Given the description of an element on the screen output the (x, y) to click on. 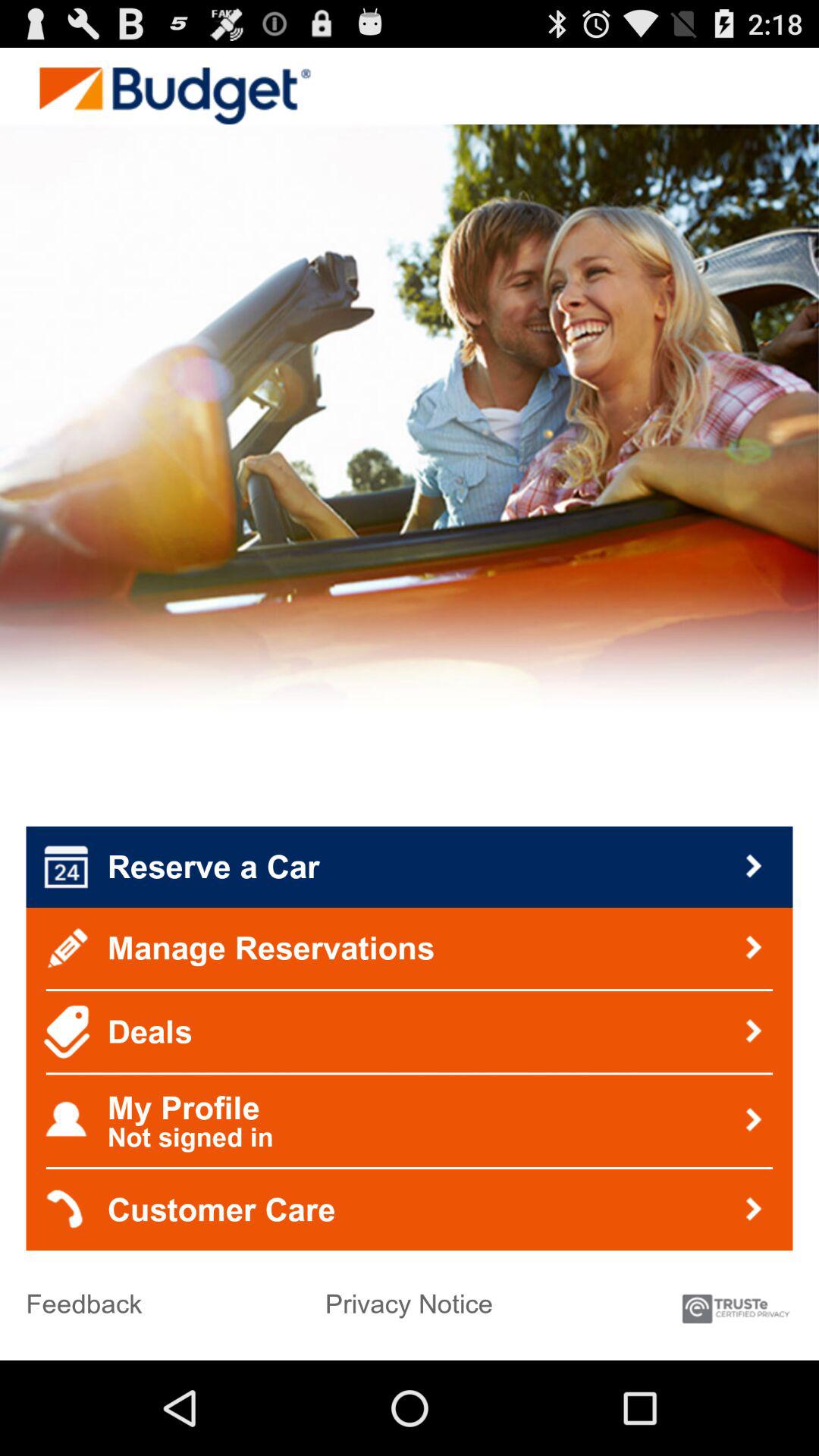
launch the privacy notice (409, 1297)
